Given the description of an element on the screen output the (x, y) to click on. 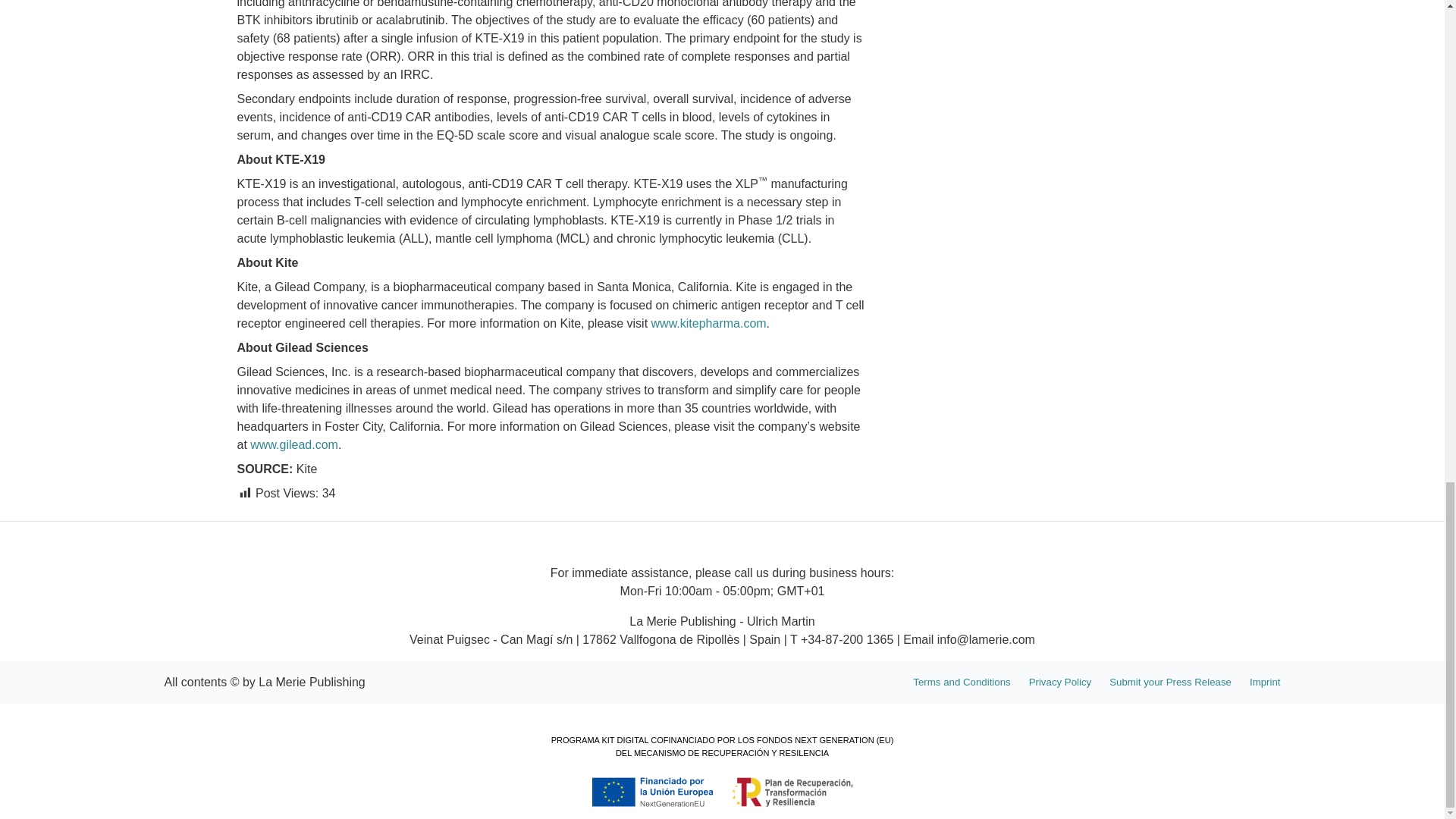
www.kitepharma.com (708, 323)
